Given the description of an element on the screen output the (x, y) to click on. 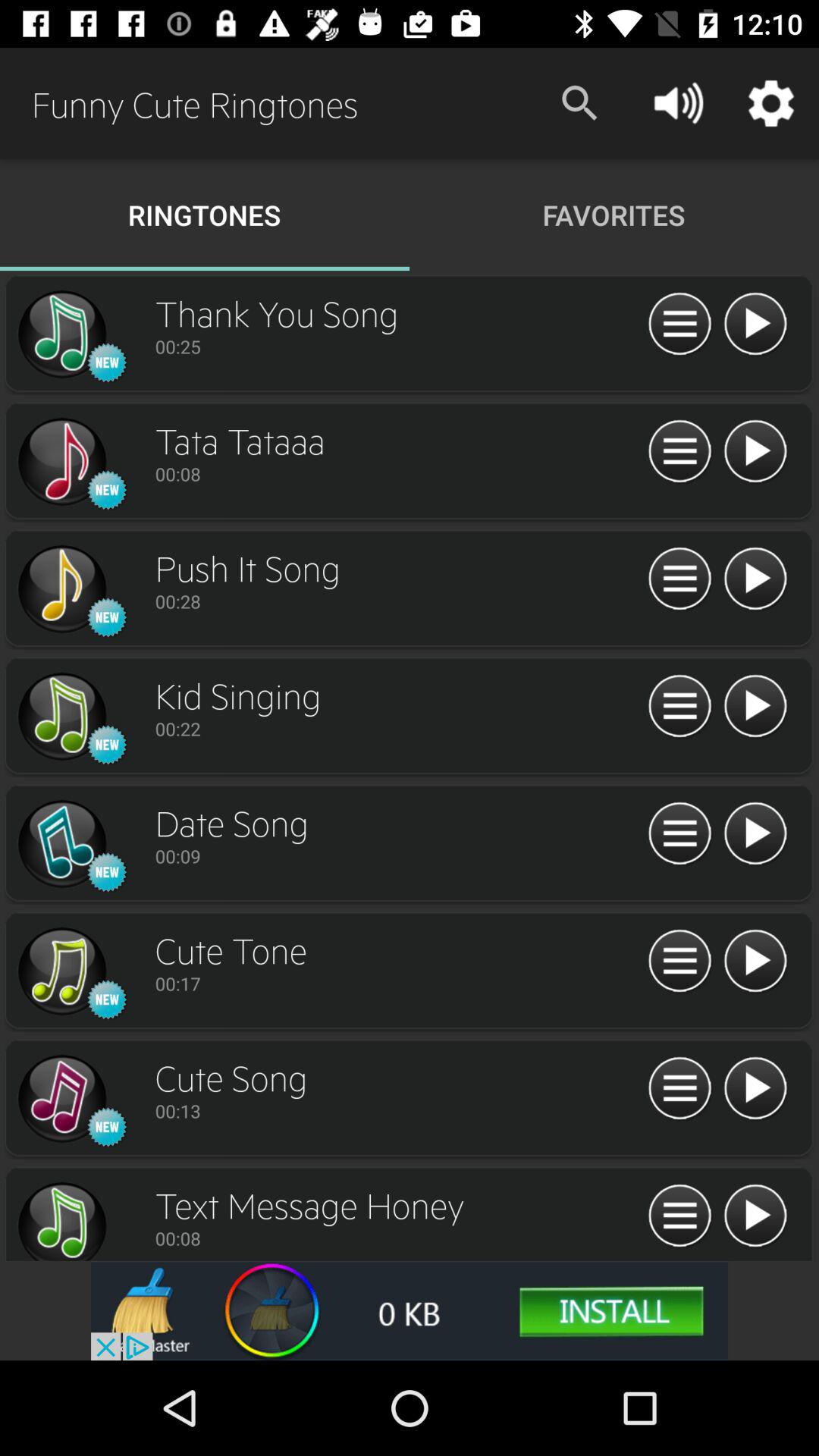
more options (679, 706)
